Given the description of an element on the screen output the (x, y) to click on. 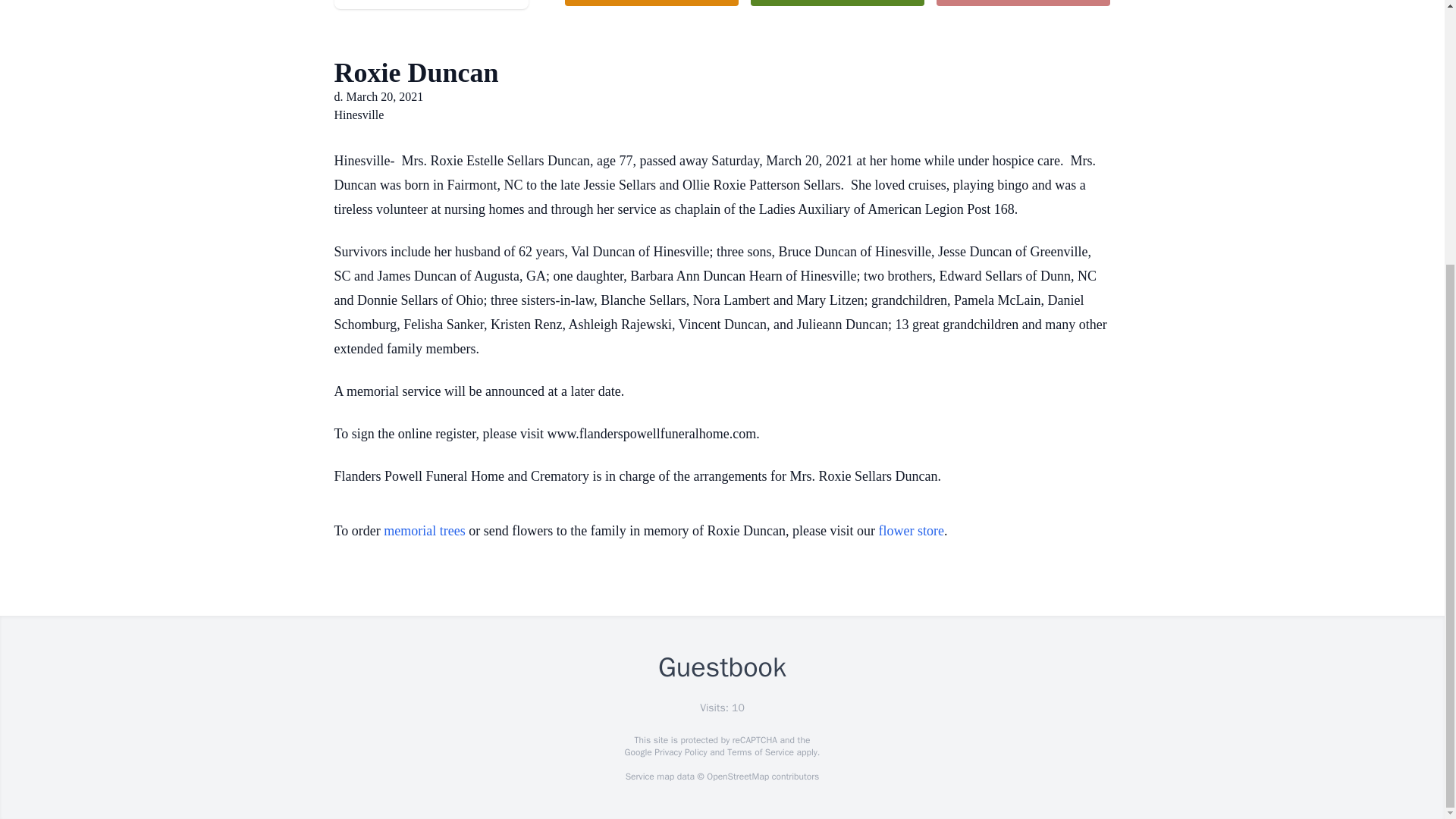
flower store (911, 530)
PLANT A TREE (837, 2)
Terms of Service (759, 752)
memorial trees (424, 530)
OpenStreetMap (737, 776)
SEND FLOWERS (651, 2)
SEND A GIFT (1022, 2)
Privacy Policy (679, 752)
